Given the description of an element on the screen output the (x, y) to click on. 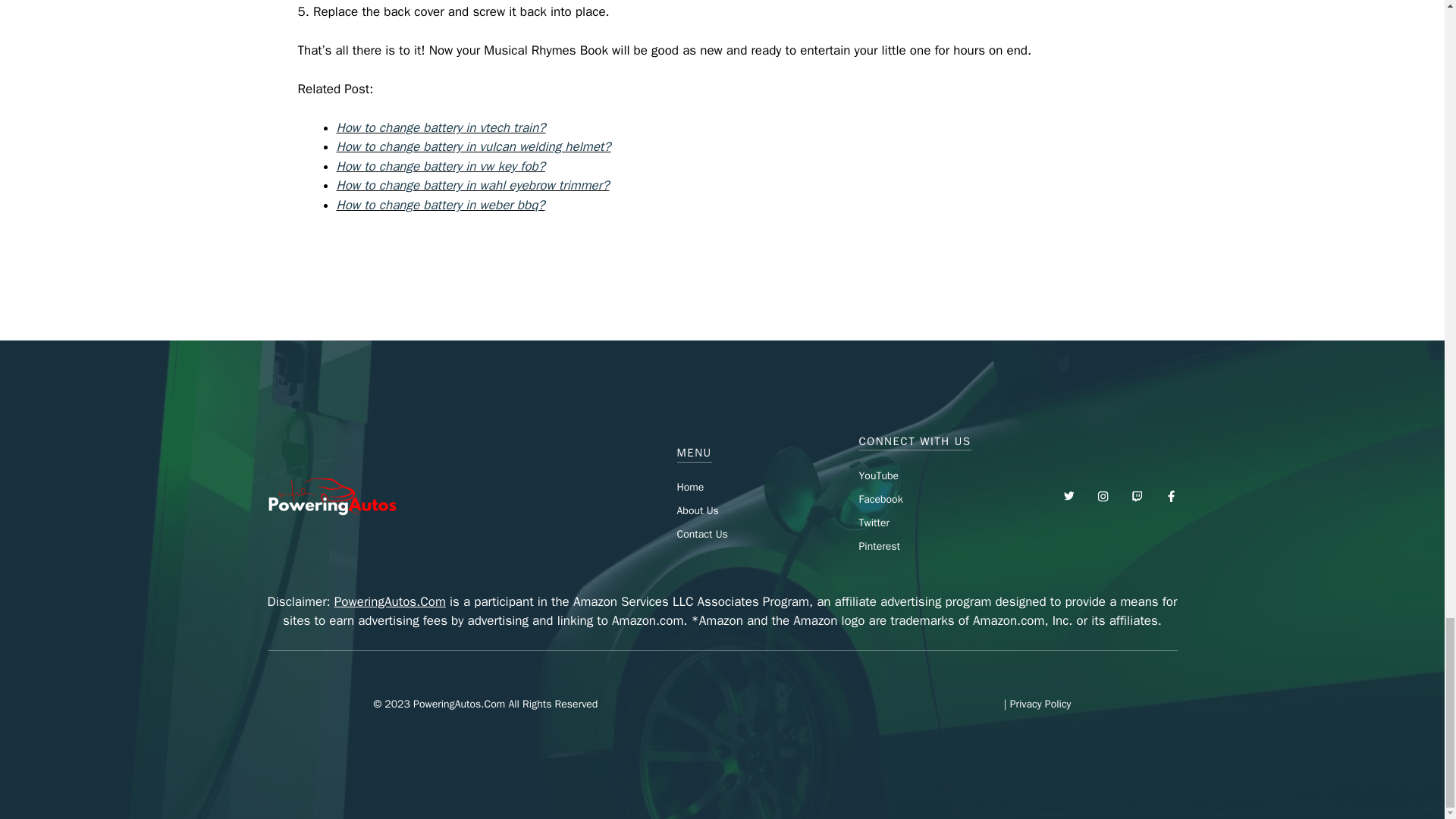
Contact Us (701, 533)
How to change battery in weber bbq? (440, 204)
Pinterest (879, 545)
Privacy Policy (1040, 703)
YouTube (878, 475)
How to change battery in vtech train? (441, 127)
About Us (697, 510)
How to change battery in vulcan welding helmet? (473, 146)
How to change battery in wahl eyebrow trimmer? (473, 185)
Home (690, 486)
How to change battery in vw key fob? (440, 166)
